Given the description of an element on the screen output the (x, y) to click on. 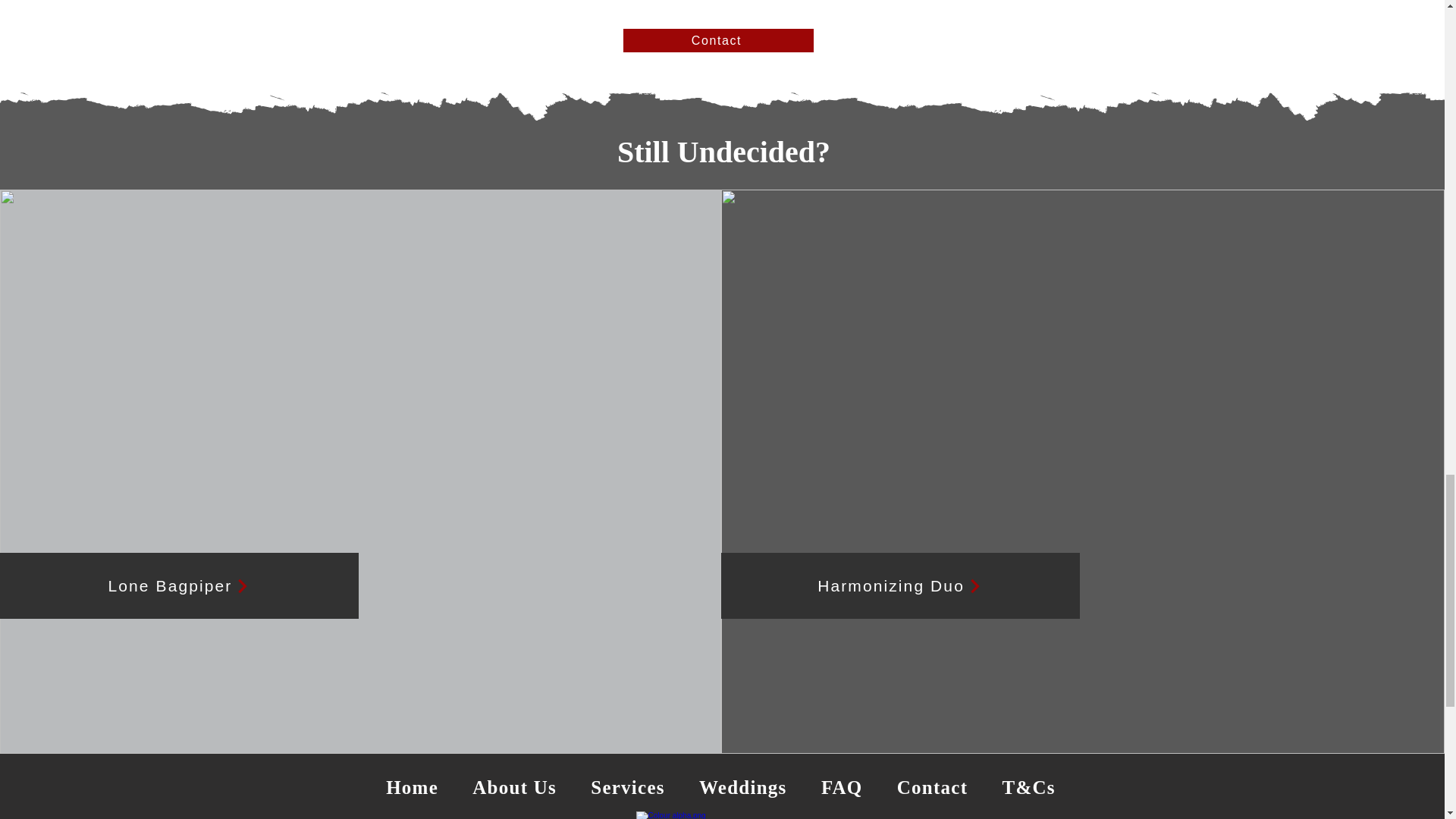
Contact (718, 40)
Weddings (742, 787)
About Us (514, 787)
Home (411, 787)
Services (627, 787)
Back to Homepage (719, 815)
Lone Bagpiper (179, 585)
FAQ (841, 787)
Harmonizing Duo (900, 585)
Contact (931, 787)
